Given the description of an element on the screen output the (x, y) to click on. 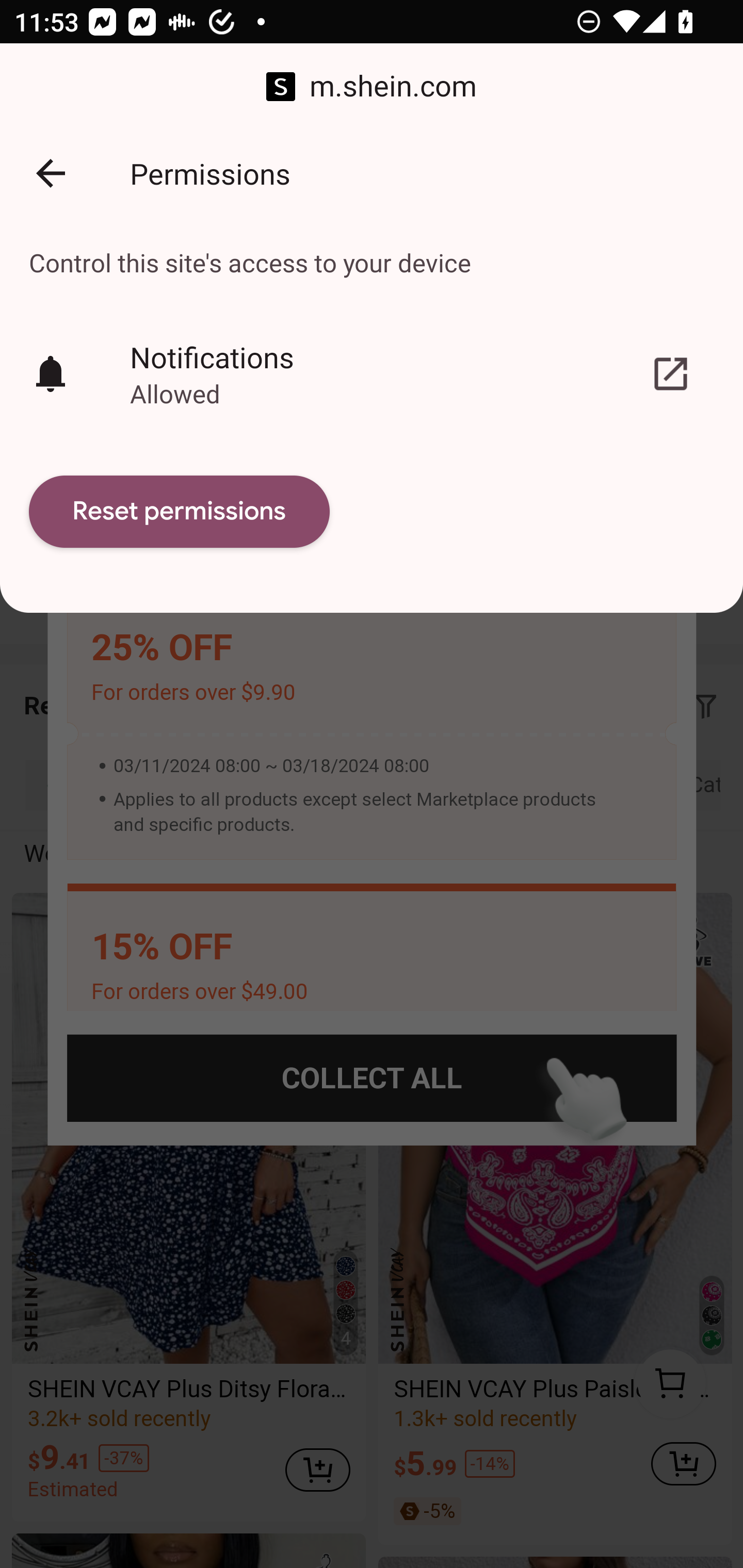
m.shein.com (371, 86)
Back (50, 173)
Notifications Allowed (371, 373)
Reset permissions (178, 511)
